Given the description of an element on the screen output the (x, y) to click on. 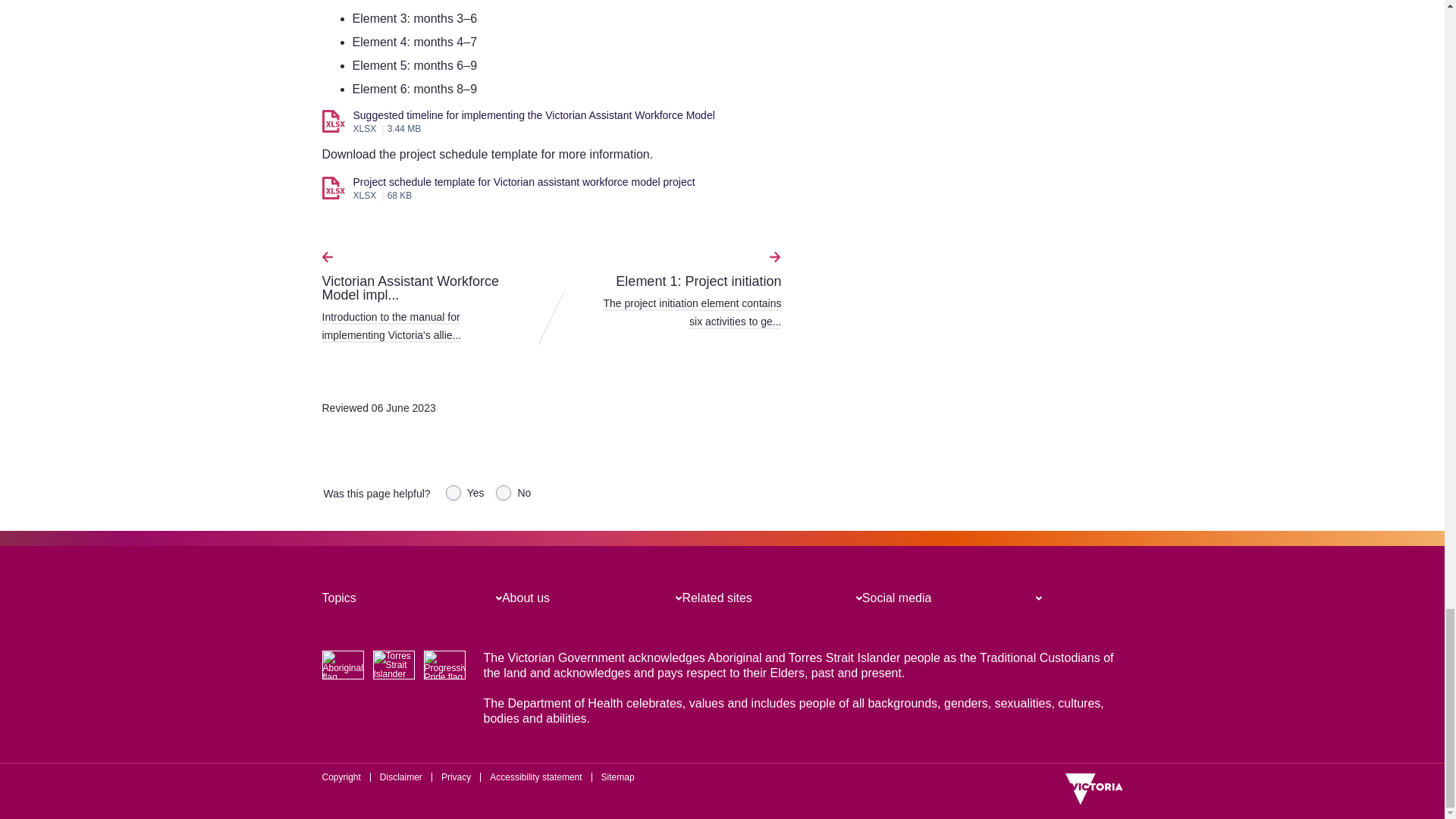
Yes (453, 492)
No (503, 492)
Topics (338, 597)
